Given the description of an element on the screen output the (x, y) to click on. 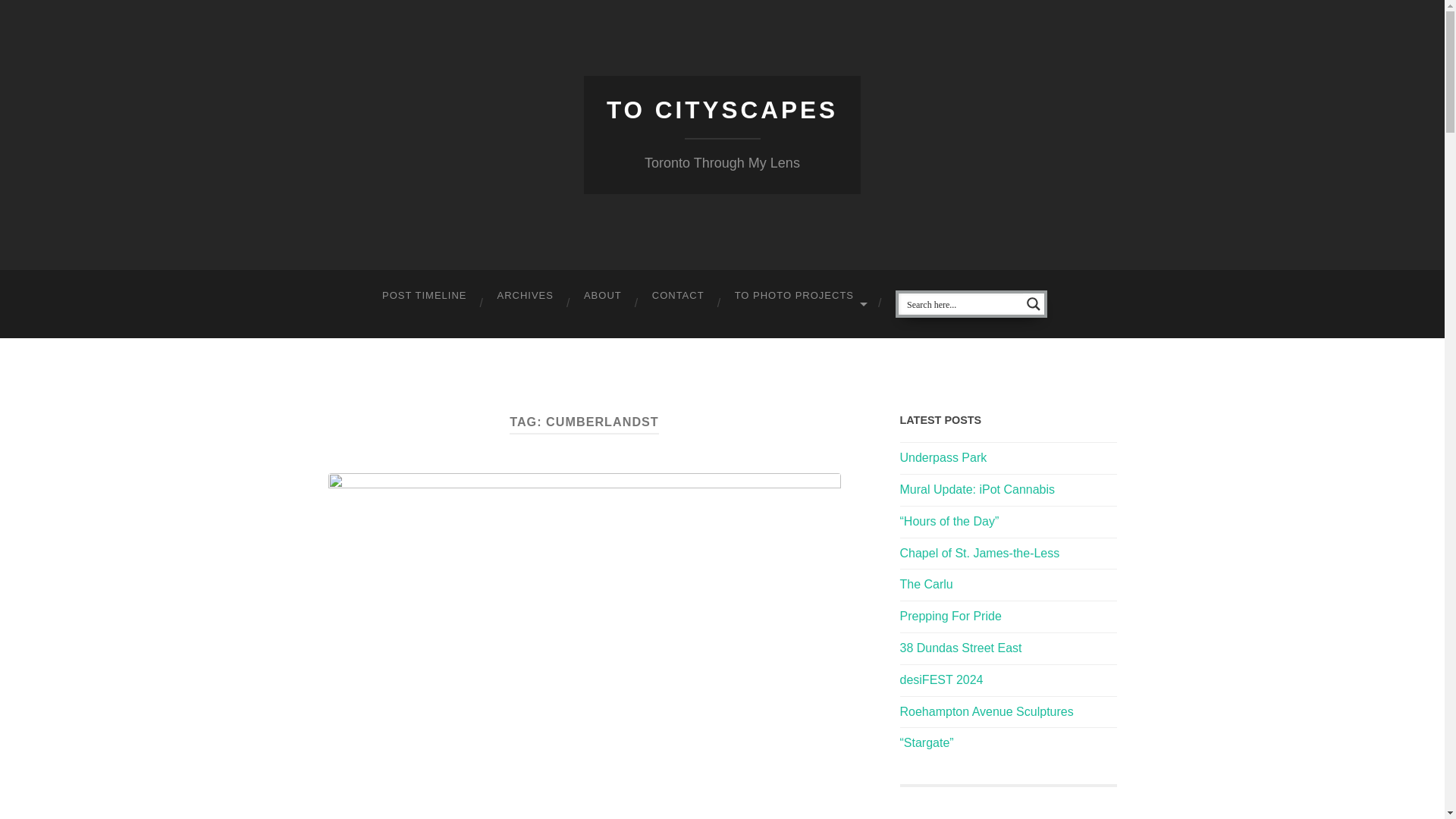
Chapel of St. James-the-Less (979, 553)
TO PHOTO PROJECTS (799, 295)
POST TIMELINE (423, 295)
TO CITYSCAPES (722, 109)
ARCHIVES (524, 295)
ABOUT (603, 295)
CONTACT (678, 295)
Mural Update: iPot Cannabis (976, 489)
The Carlu (925, 584)
Underpass Park (943, 457)
